Given the description of an element on the screen output the (x, y) to click on. 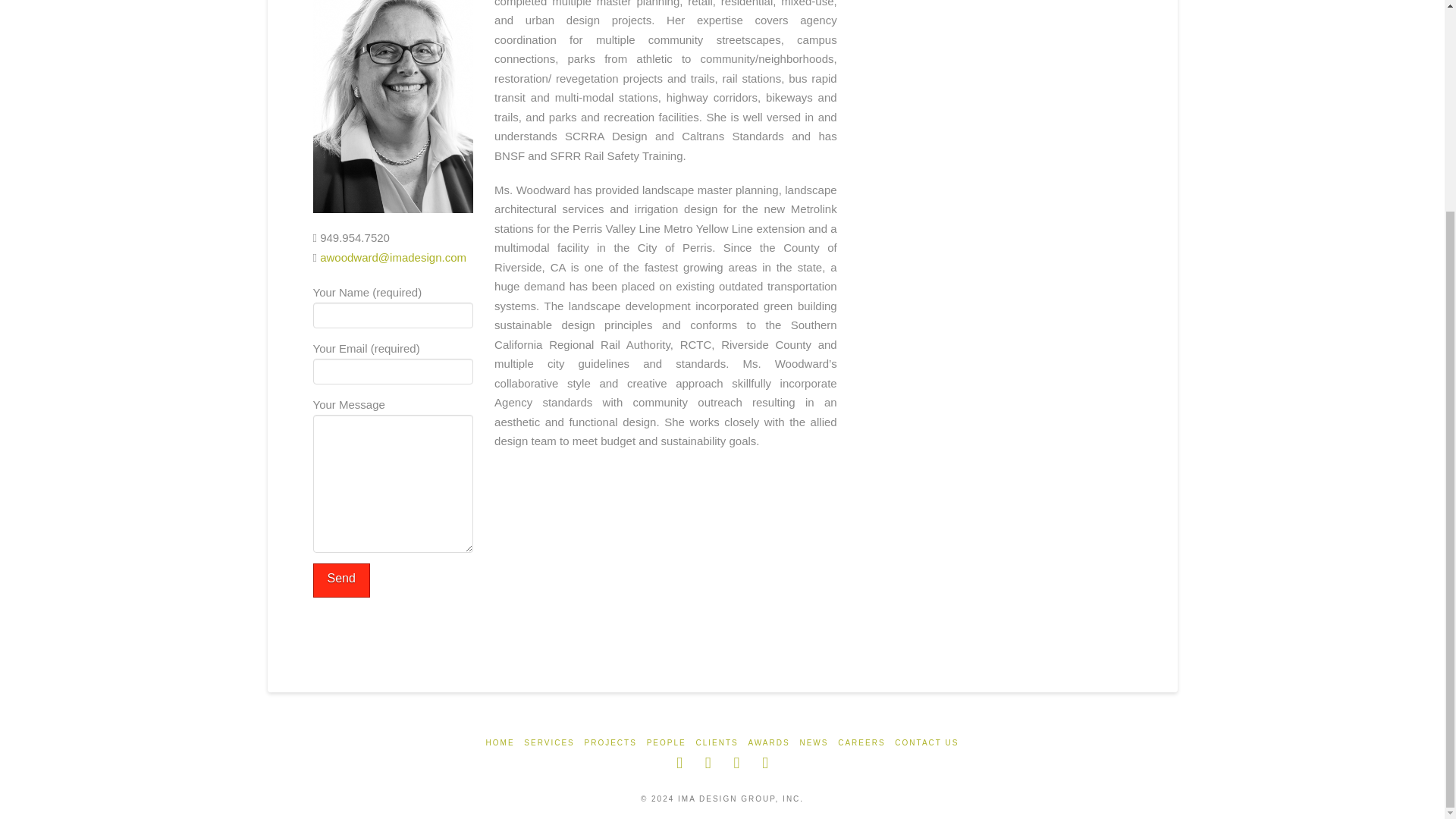
SERVICES (548, 742)
PEOPLE (665, 742)
PROJECTS (611, 742)
HOME (500, 742)
Send (341, 580)
Send (341, 580)
CLIENTS (716, 742)
